Given the description of an element on the screen output the (x, y) to click on. 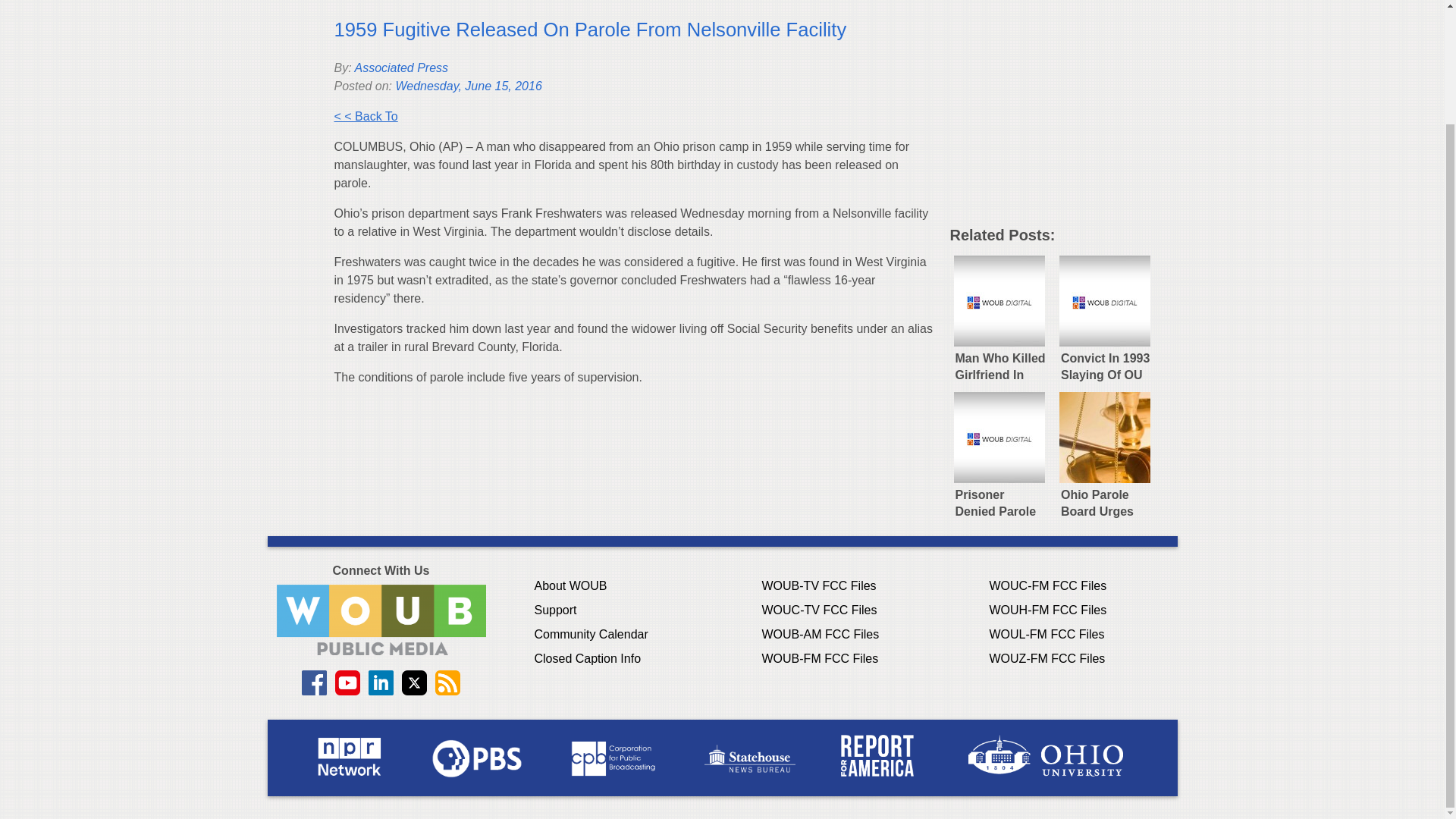
3rd party ad content (1062, 118)
Wednesday, June 15, 2016 (467, 85)
Associated Press (400, 67)
